Given the description of an element on the screen output the (x, y) to click on. 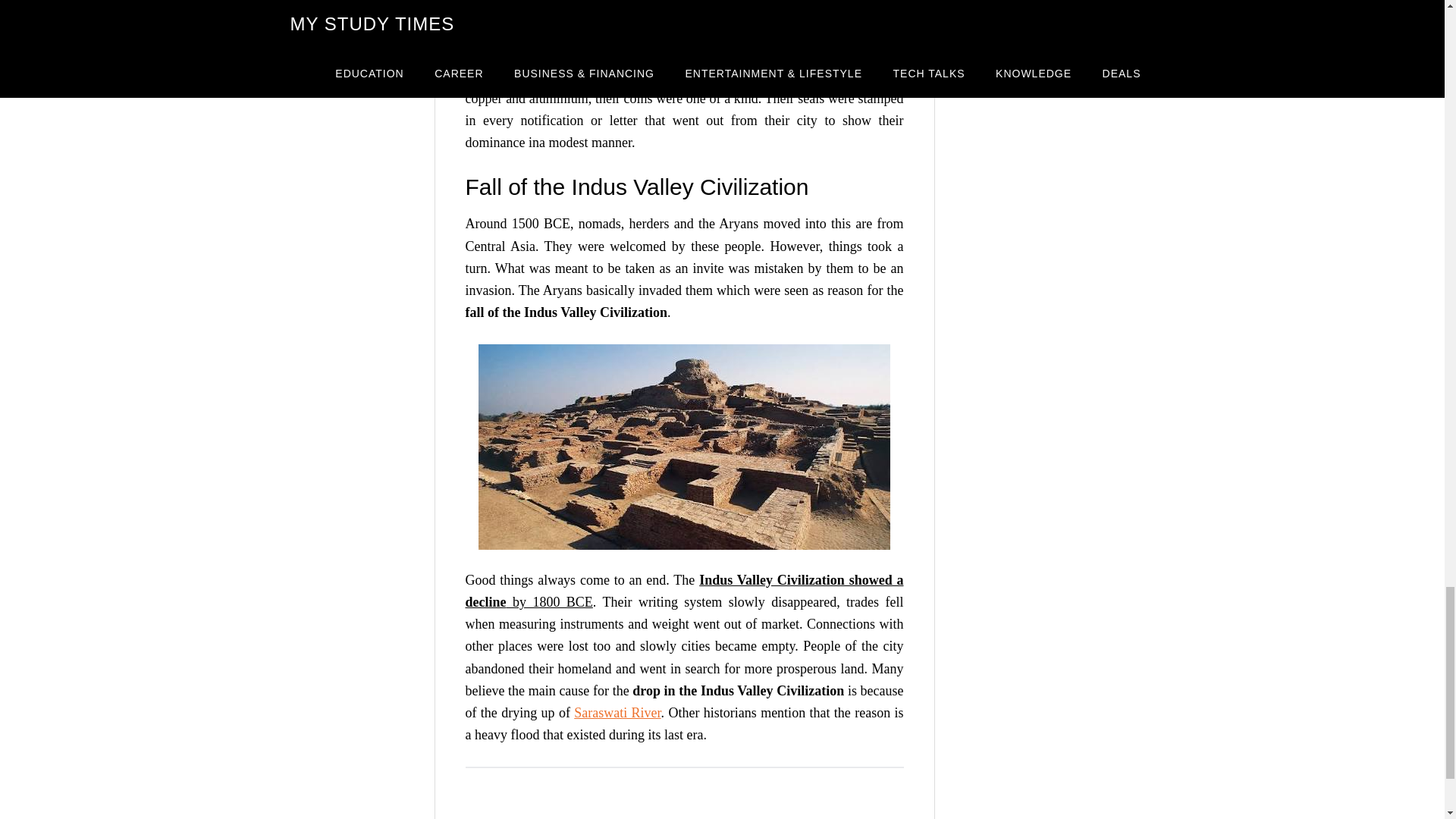
Indus Valley Civilization Essay, History, Article 5 (684, 446)
